Given the description of an element on the screen output the (x, y) to click on. 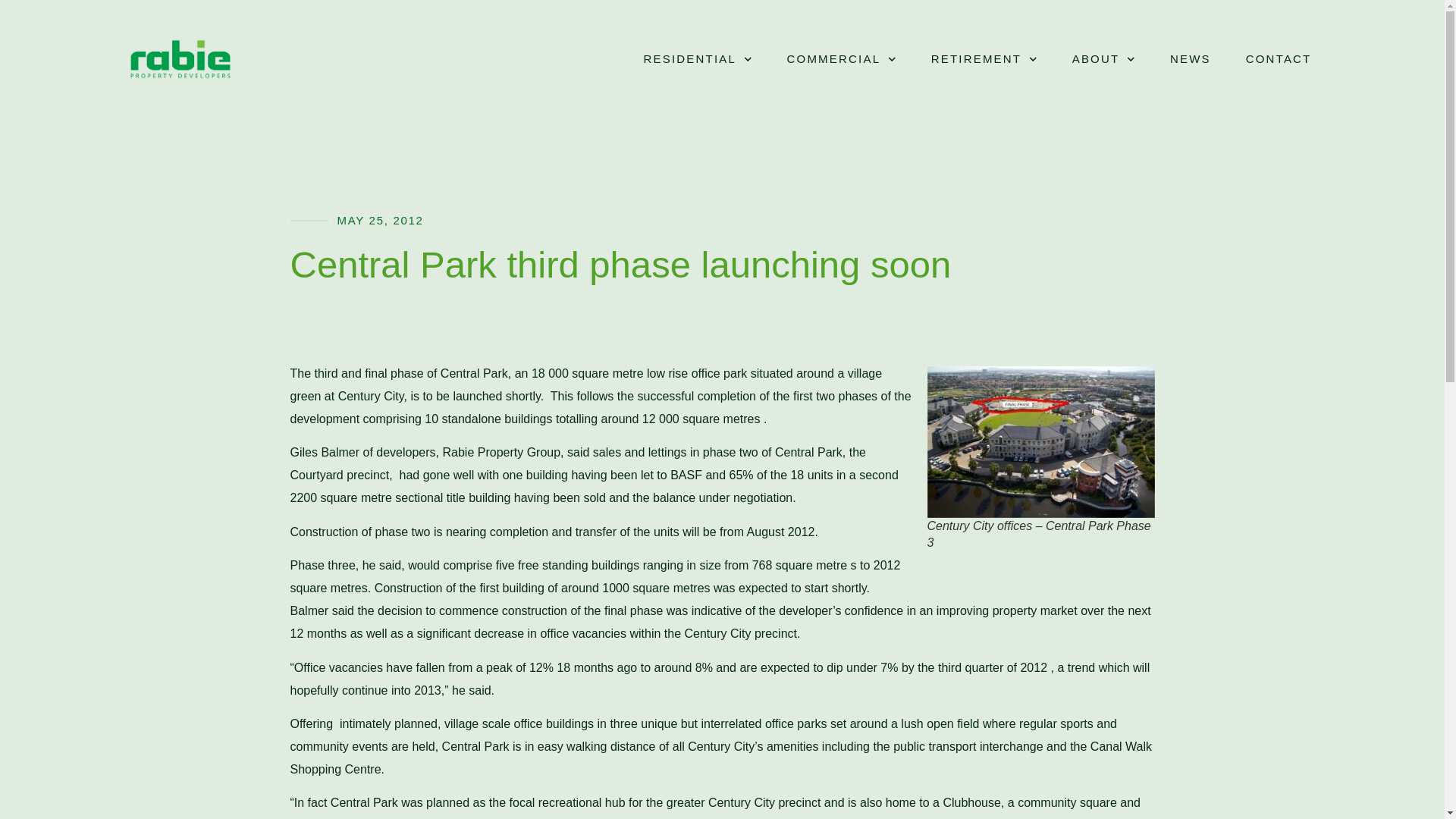
RESIDENTIAL (697, 58)
ABOUT (1103, 58)
RETIREMENT (984, 58)
CONTACT (1278, 58)
NEWS (1190, 58)
Central Park - Rabie Final Phase 21May12 (1040, 441)
COMMERCIAL (842, 58)
